Given the description of an element on the screen output the (x, y) to click on. 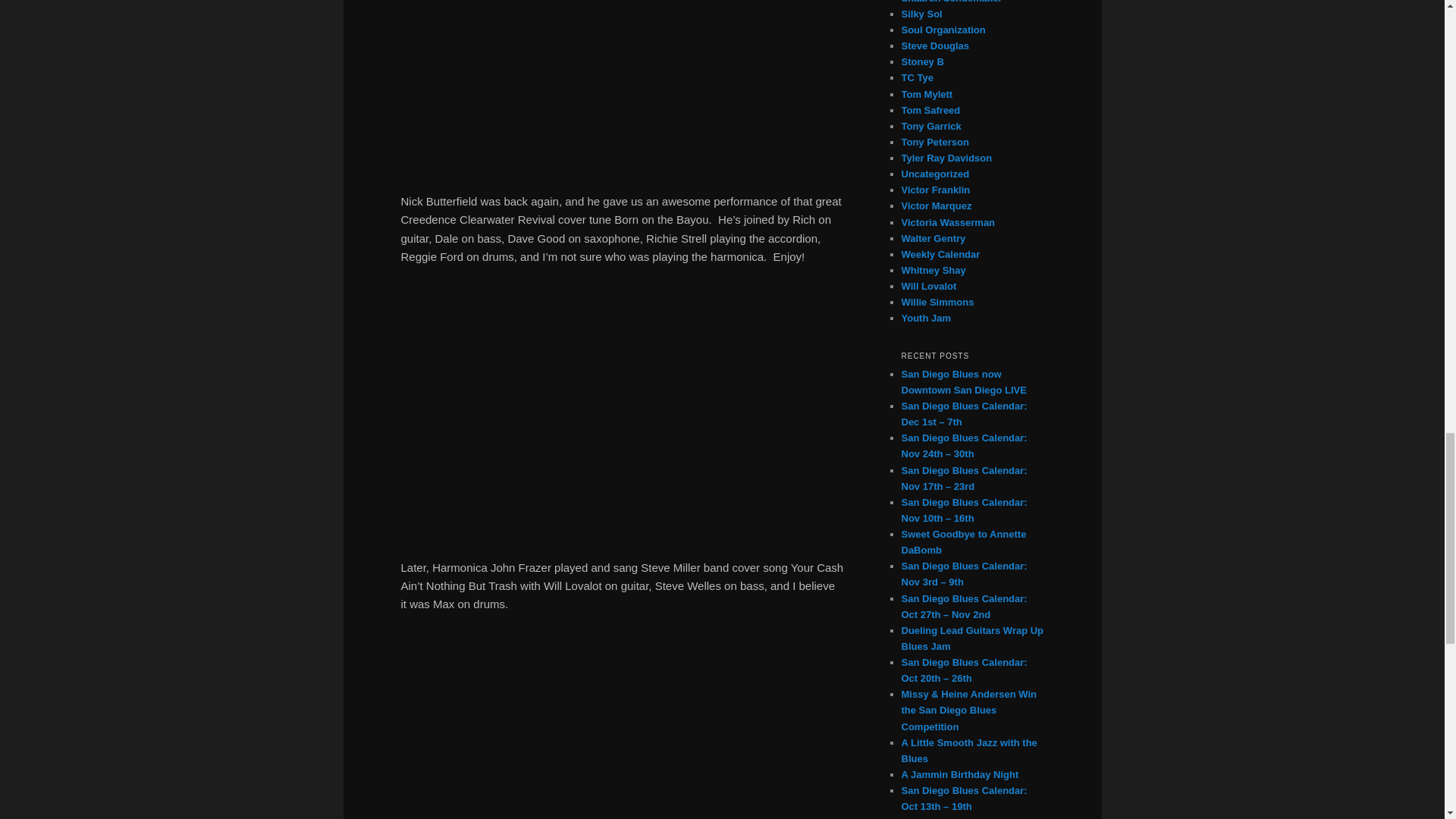
YouTube player (621, 725)
YouTube player (621, 409)
YouTube player (621, 84)
